Given the description of an element on the screen output the (x, y) to click on. 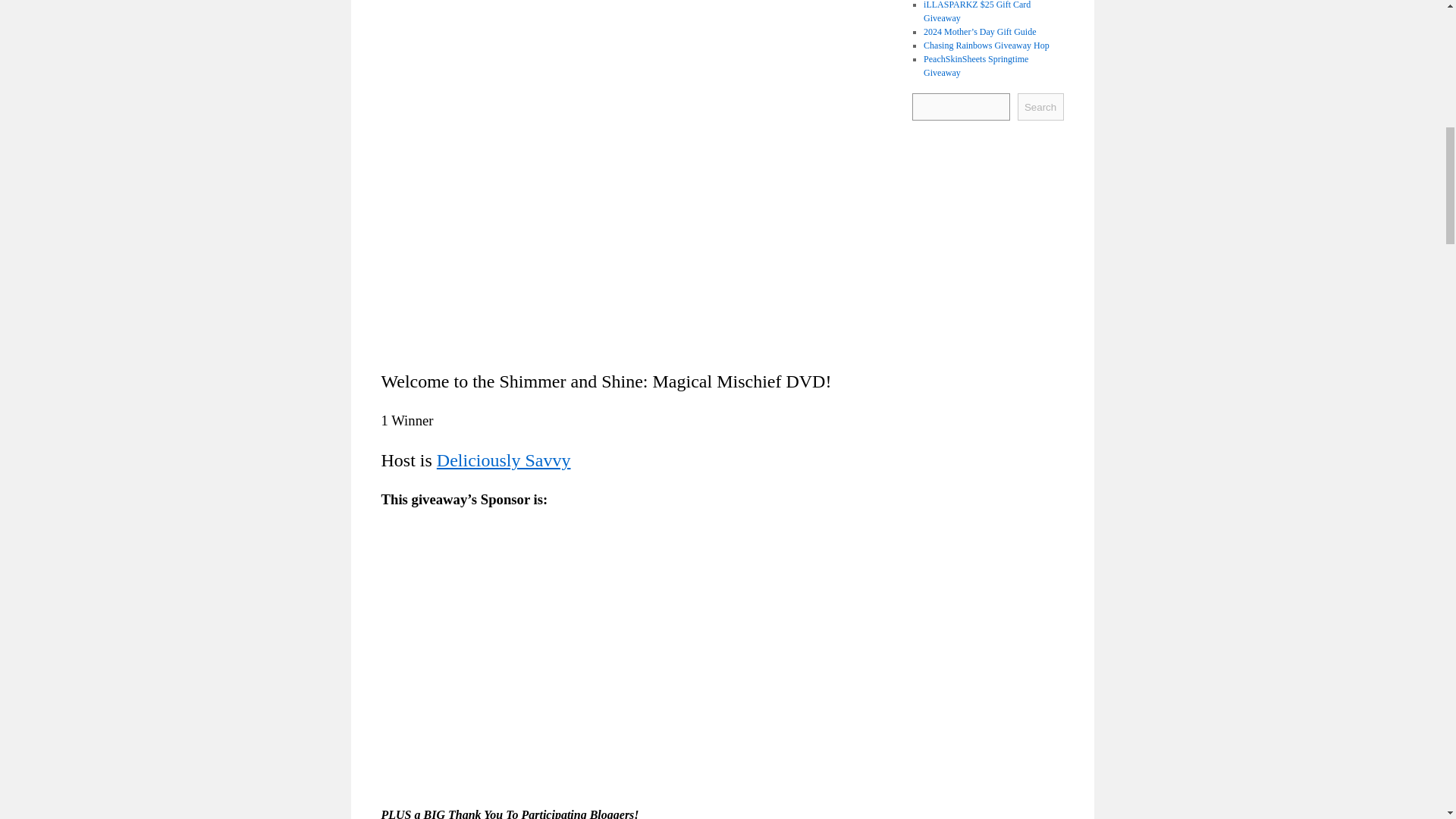
Deliciously Savvy (503, 460)
